Given the description of an element on the screen output the (x, y) to click on. 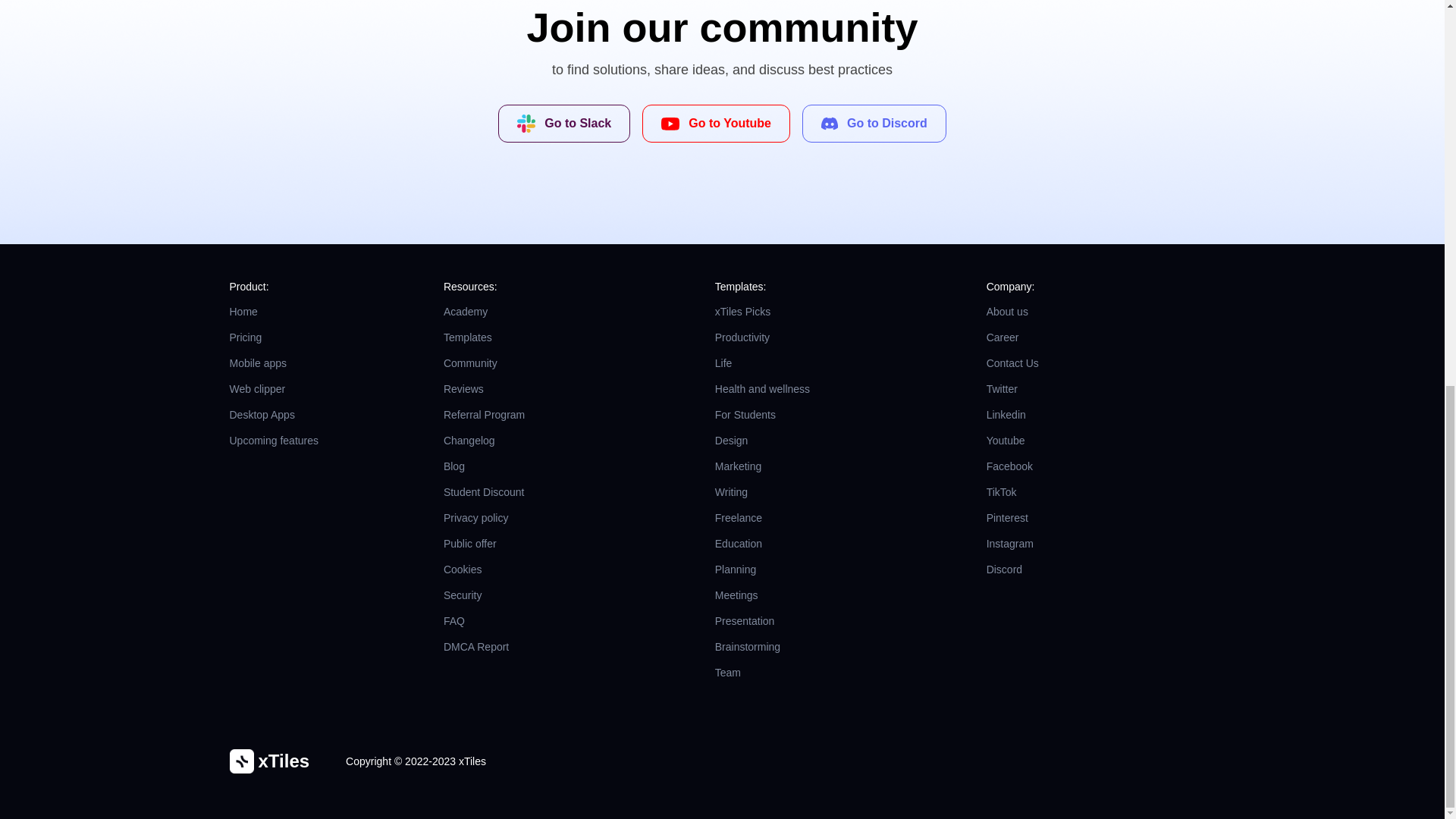
Go to Youtube (716, 123)
Go to Discord (874, 123)
Go to Slack (563, 123)
Pricing (314, 337)
Home (314, 311)
